Given the description of an element on the screen output the (x, y) to click on. 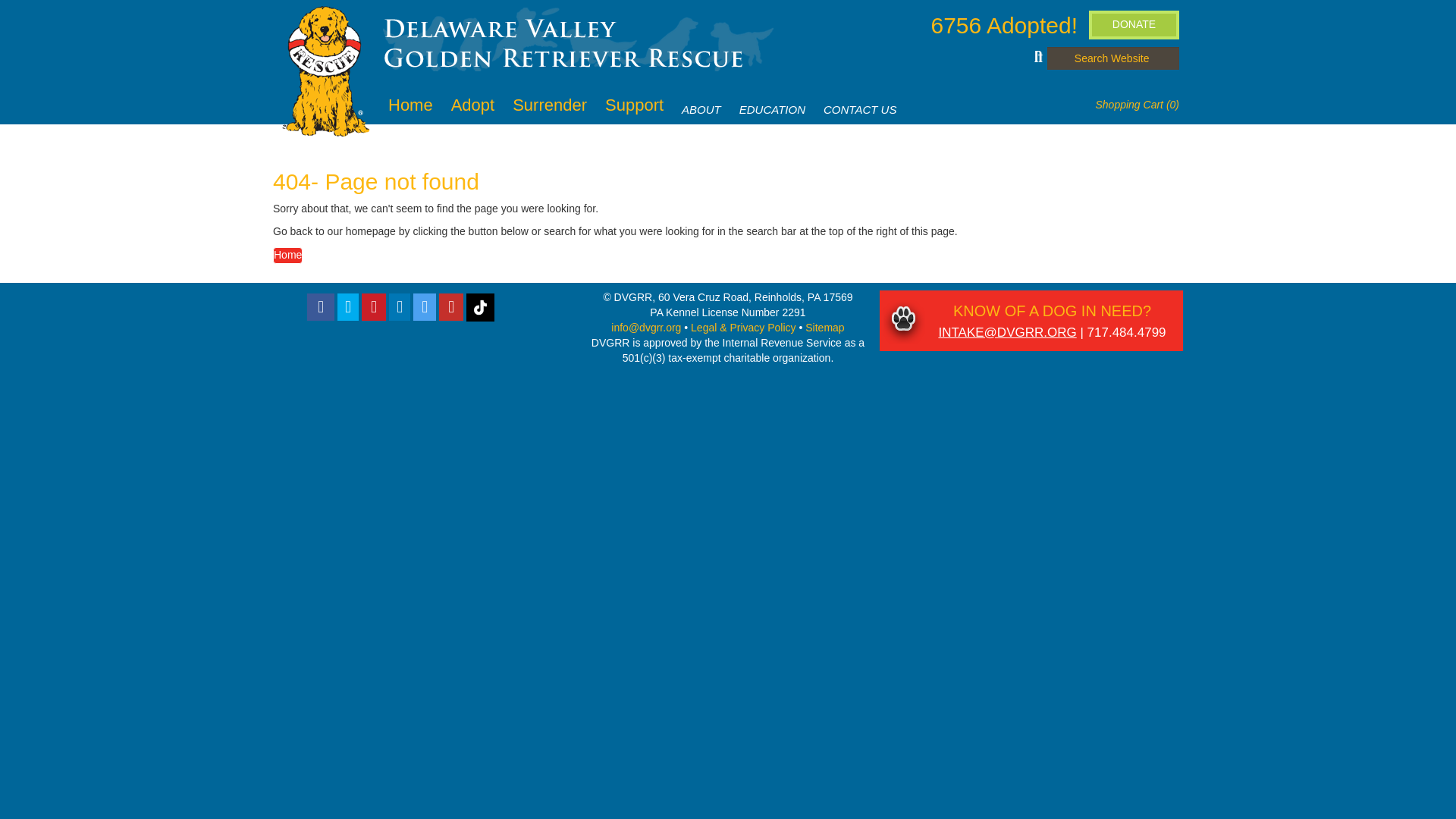
View your shopping cart (1136, 104)
Delaware Valley Golden Retriever Rescue (564, 43)
Adopt (472, 105)
Home (410, 105)
Surrender (549, 105)
Support (634, 105)
